Given the description of an element on the screen output the (x, y) to click on. 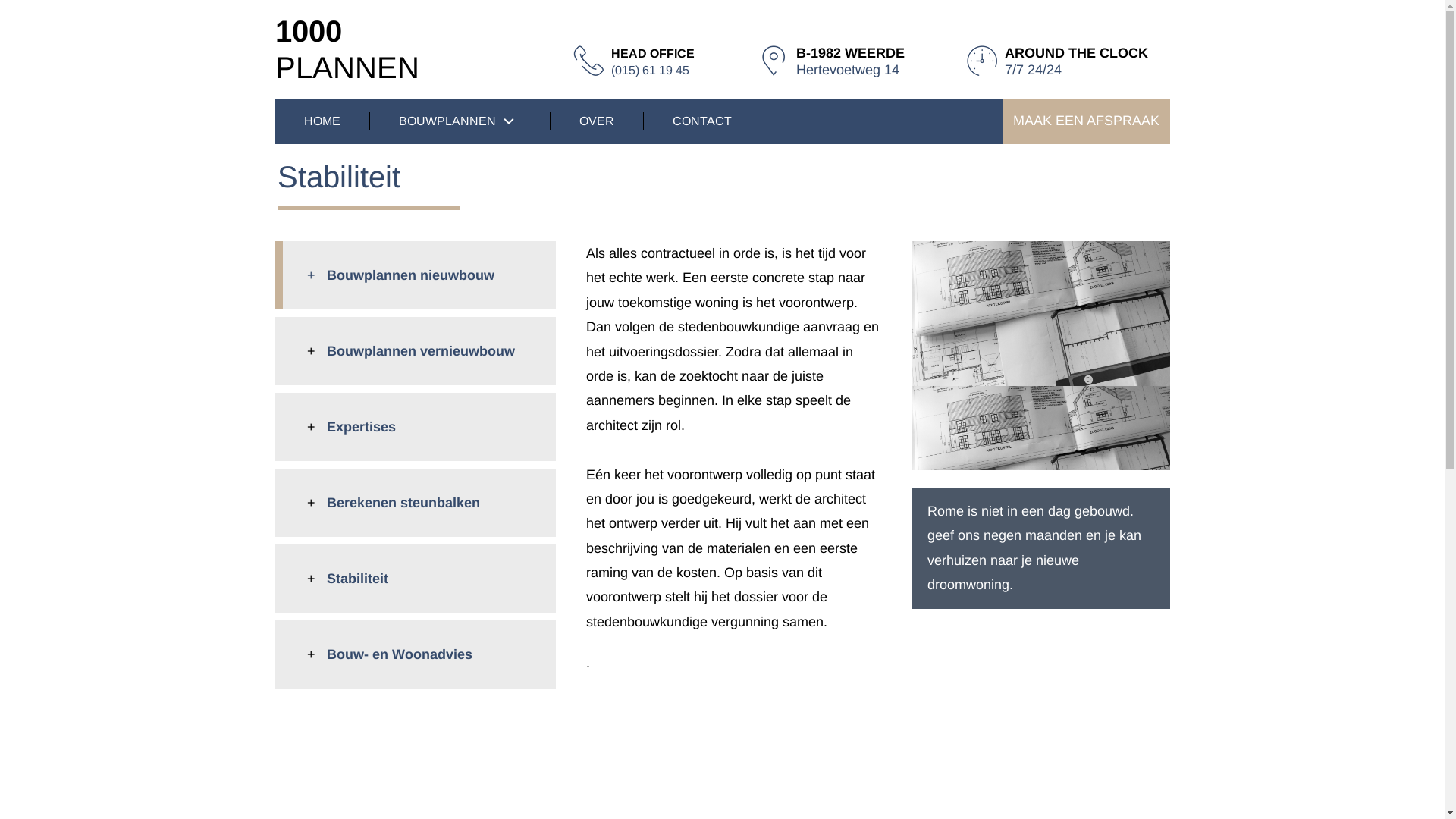
BOUWPLANNEN Element type: text (456, 120)
Bouwplannen nieuwbouw Element type: text (409, 274)
+    Element type: text (316, 274)
HOME Element type: text (317, 120)
CONTACT Element type: text (698, 120)
MAAK EEN AFSPRAAK Element type: text (1086, 120)
OVER Element type: text (593, 120)
